Given the description of an element on the screen output the (x, y) to click on. 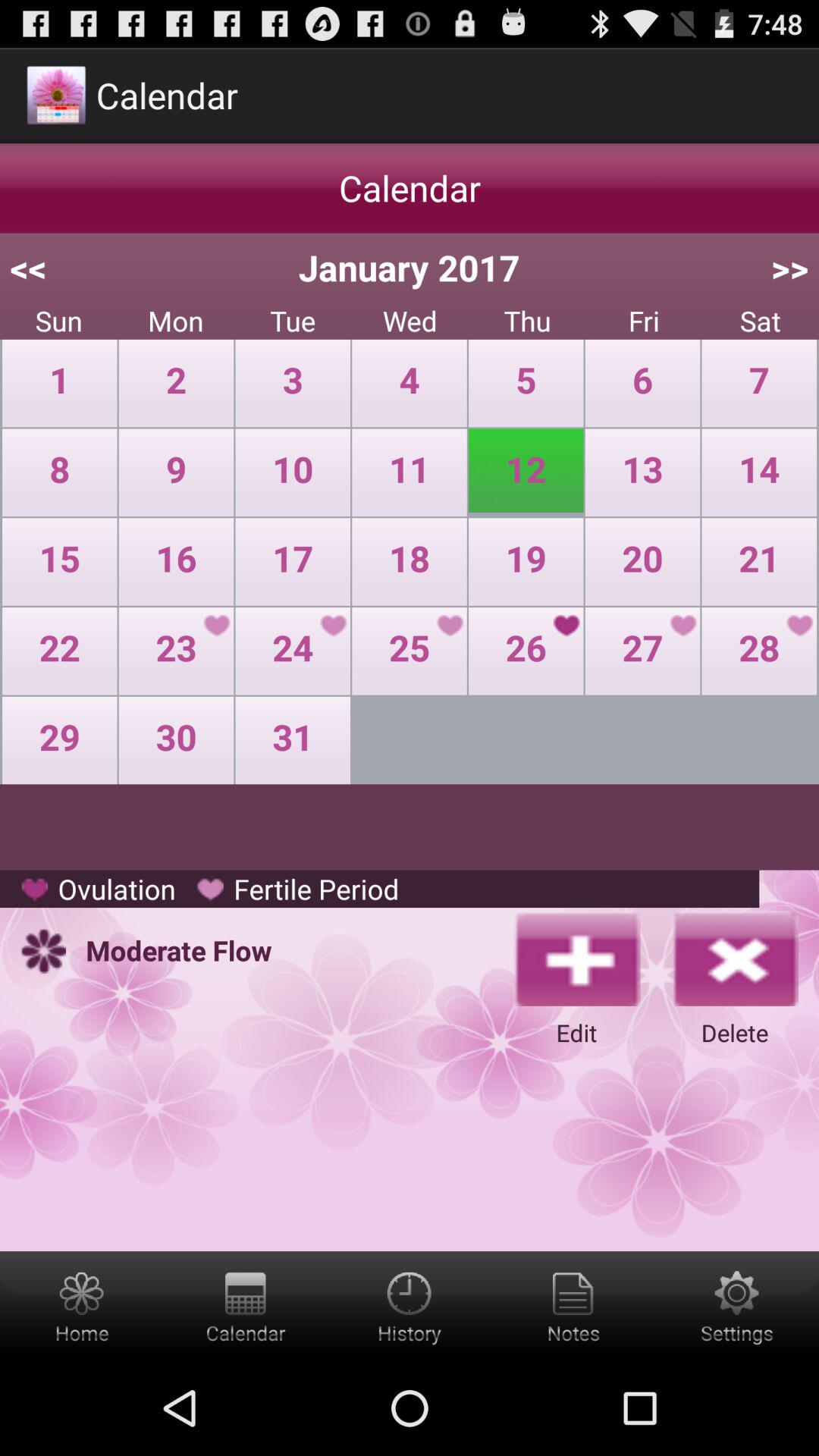
notebad box (573, 1305)
